Given the description of an element on the screen output the (x, y) to click on. 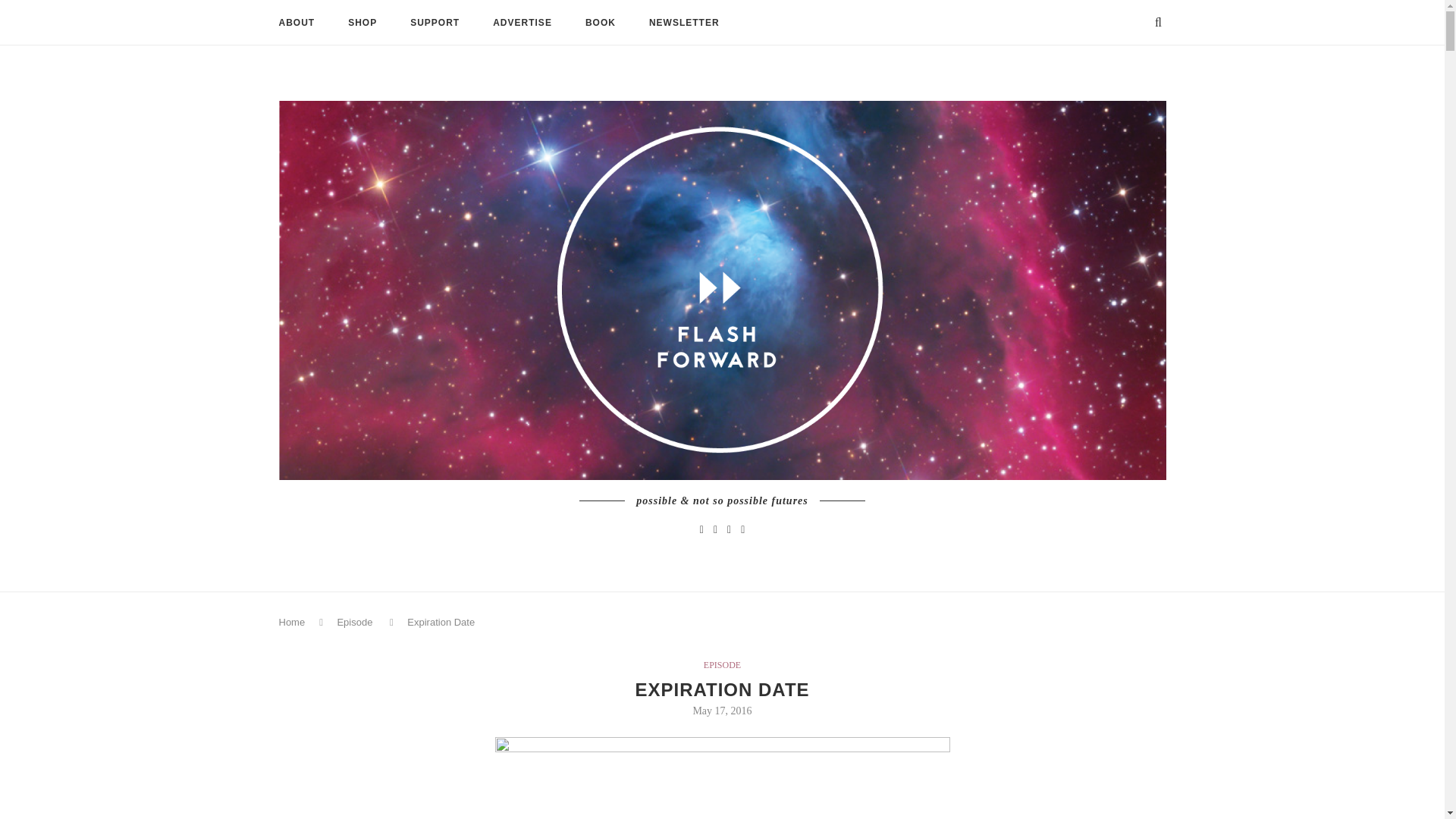
EPISODE (722, 665)
ADVERTISE (522, 22)
SUPPORT (435, 22)
Home (292, 622)
View all posts in Episode (722, 665)
Episode (354, 622)
NEWSLETTER (684, 22)
